Given the description of an element on the screen output the (x, y) to click on. 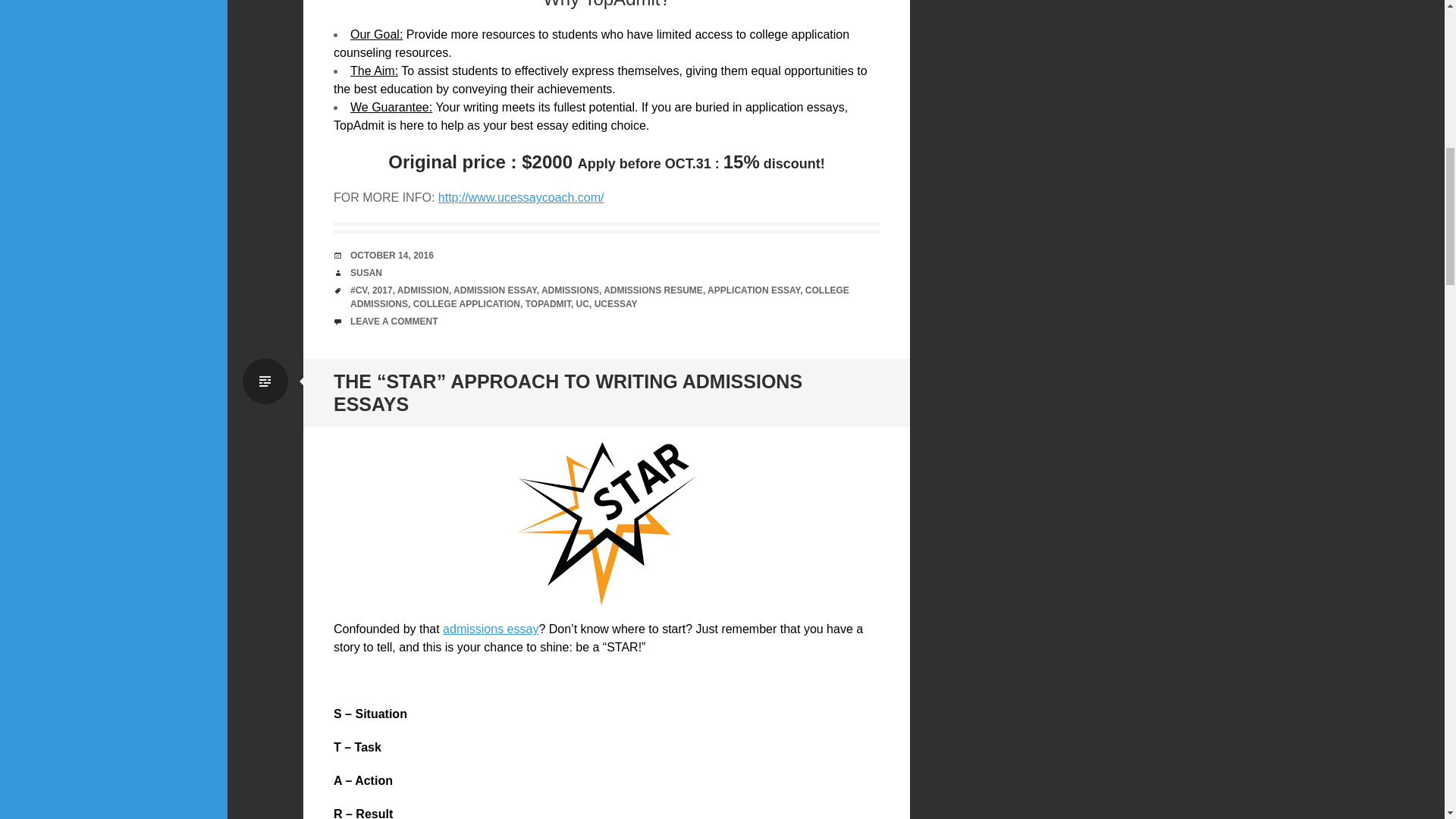
COLLEGE APPLICATION (466, 303)
UC (582, 303)
2017 (382, 290)
View all posts by Susan (365, 272)
ADMISSIONS (569, 290)
ADMISSION (422, 290)
OCTOBER 14, 2016 (391, 255)
TOPADMIT (547, 303)
LEAVE A COMMENT (394, 321)
COLLEGE ADMISSIONS (599, 297)
admissions essay (490, 628)
ADMISSION ESSAY (494, 290)
4:23 am (391, 255)
ADMISSIONS RESUME (653, 290)
APPLICATION ESSAY (753, 290)
